Given the description of an element on the screen output the (x, y) to click on. 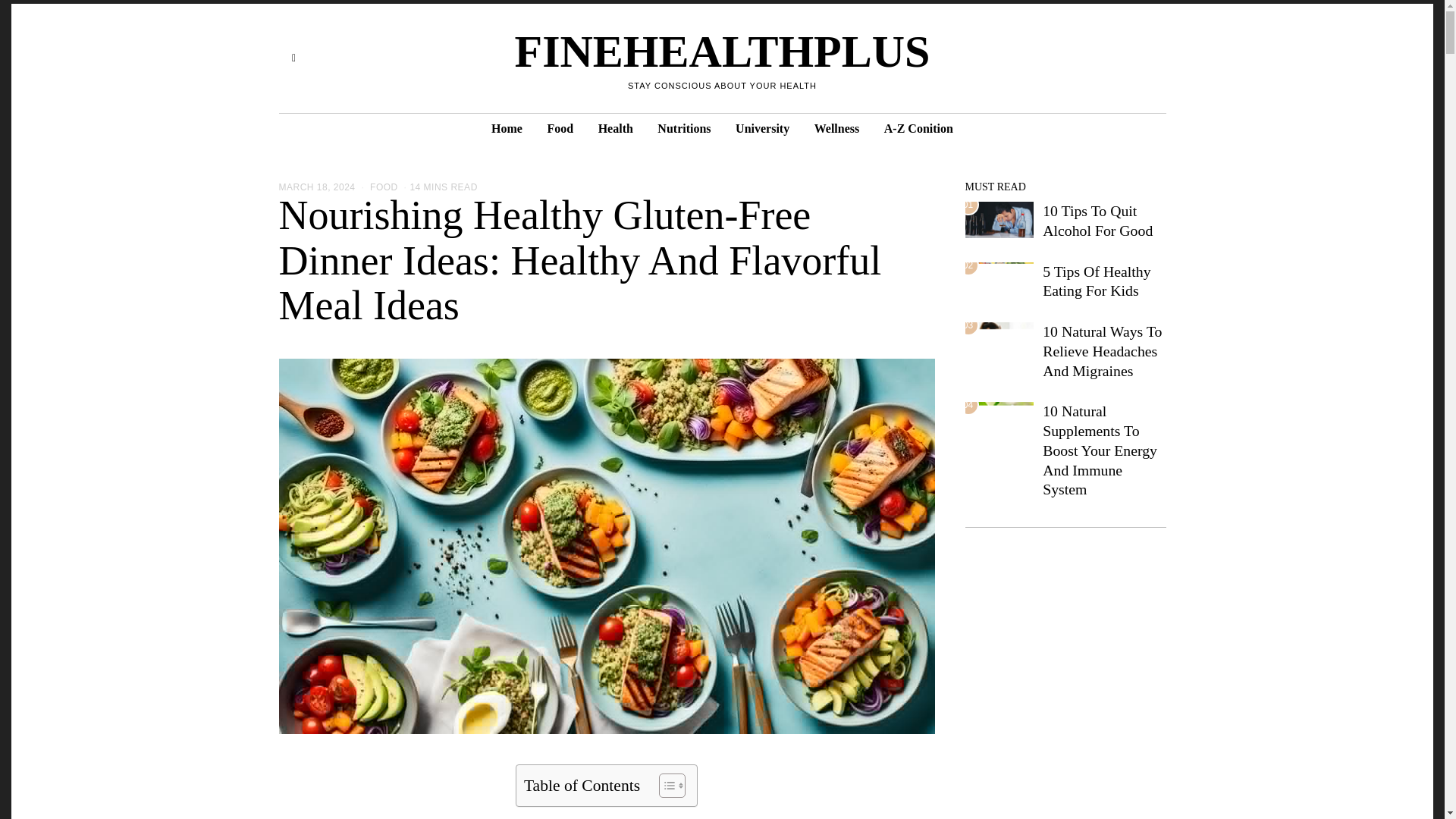
Nutritions (683, 128)
FINEHEALTHPLUS (722, 51)
FOOD (383, 186)
Food (559, 128)
A-Z Conition (918, 128)
Health (615, 128)
Wellness (836, 128)
University (762, 128)
Home (506, 128)
